Given the description of an element on the screen output the (x, y) to click on. 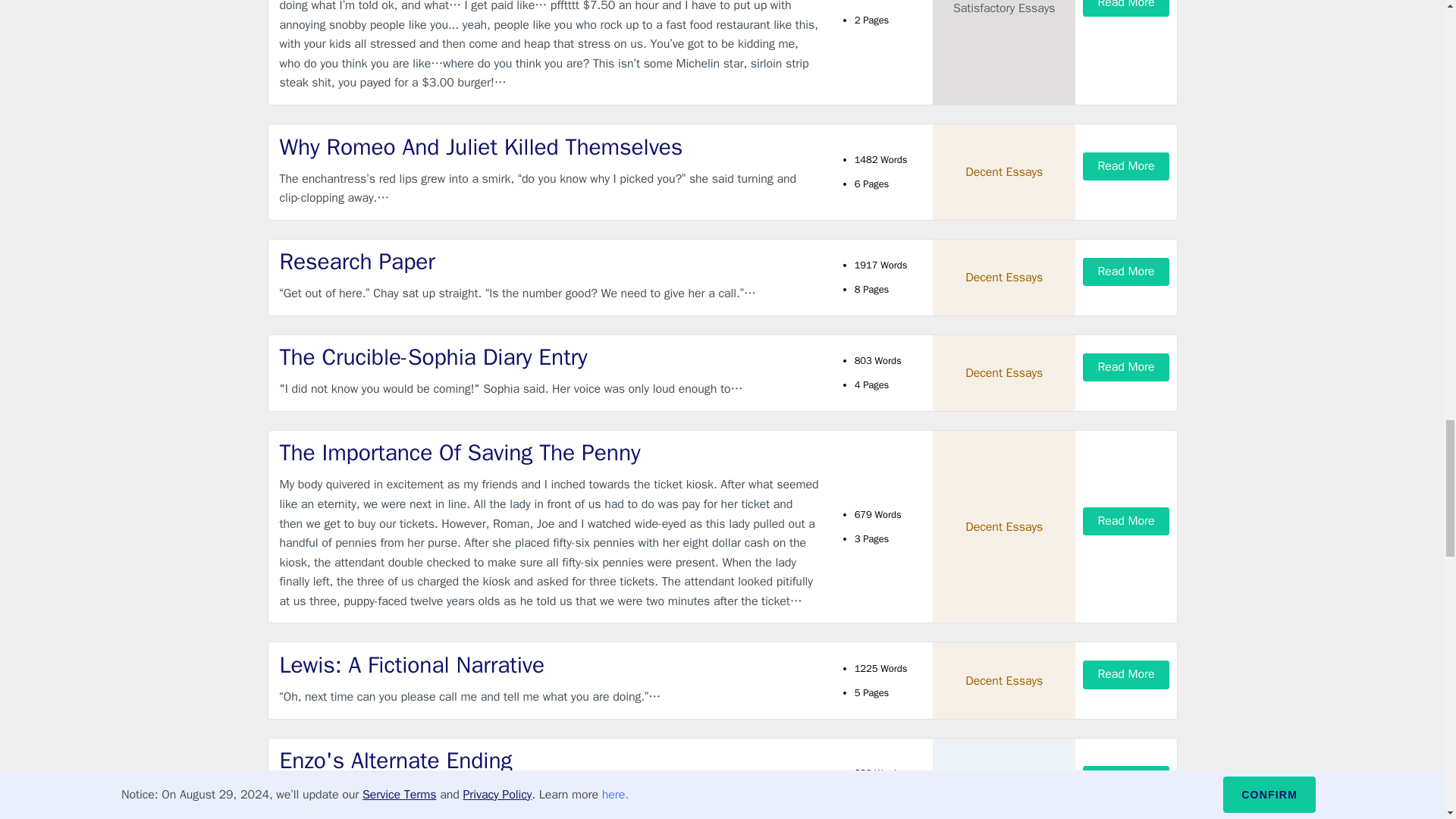
Research Paper (548, 261)
Read More (1126, 8)
Why Romeo And Juliet Killed Themselves (548, 146)
Read More (1126, 166)
